Given the description of an element on the screen output the (x, y) to click on. 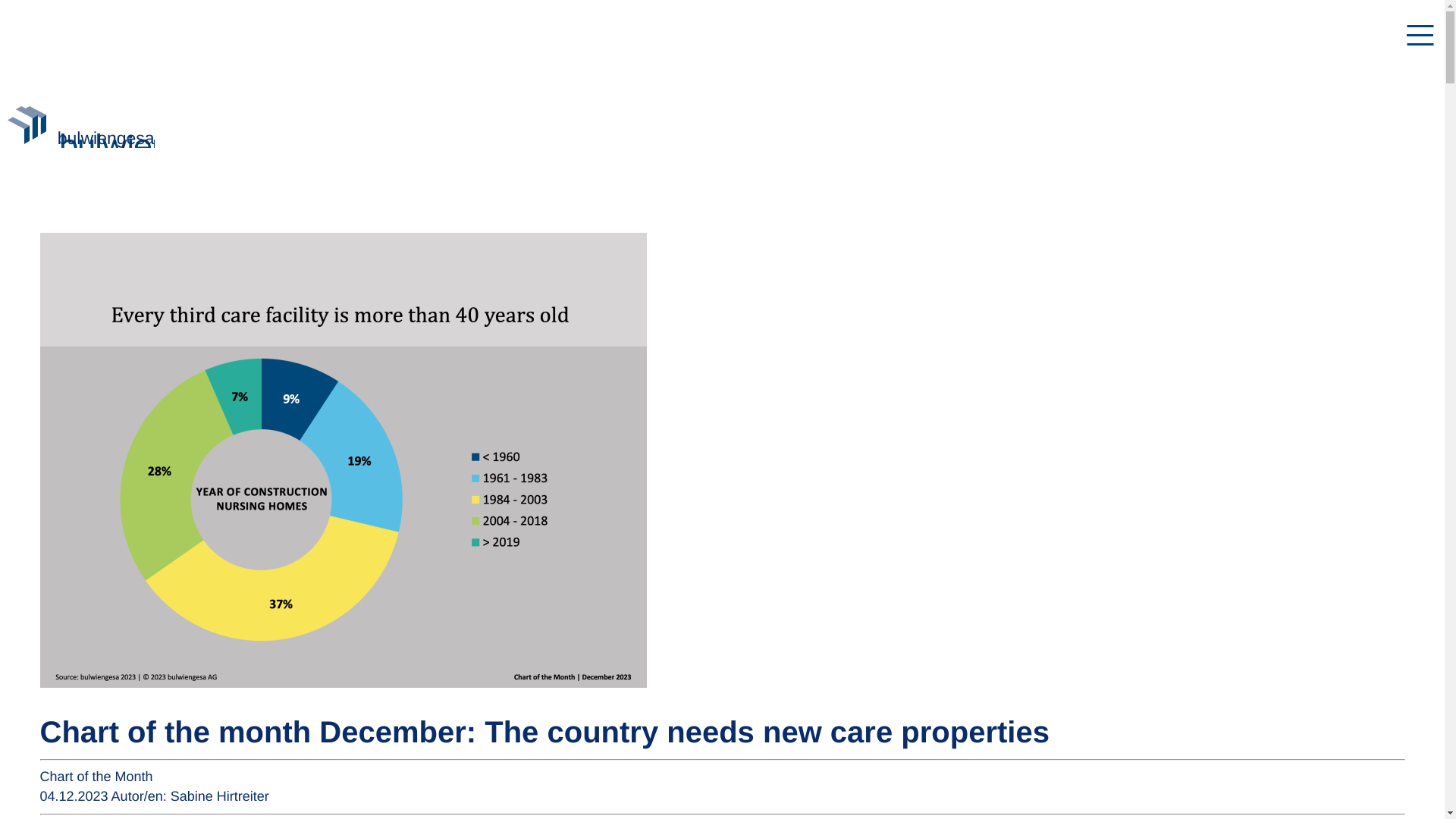
Home (106, 137)
bulwiengesa (106, 137)
Home (28, 137)
